Given the description of an element on the screen output the (x, y) to click on. 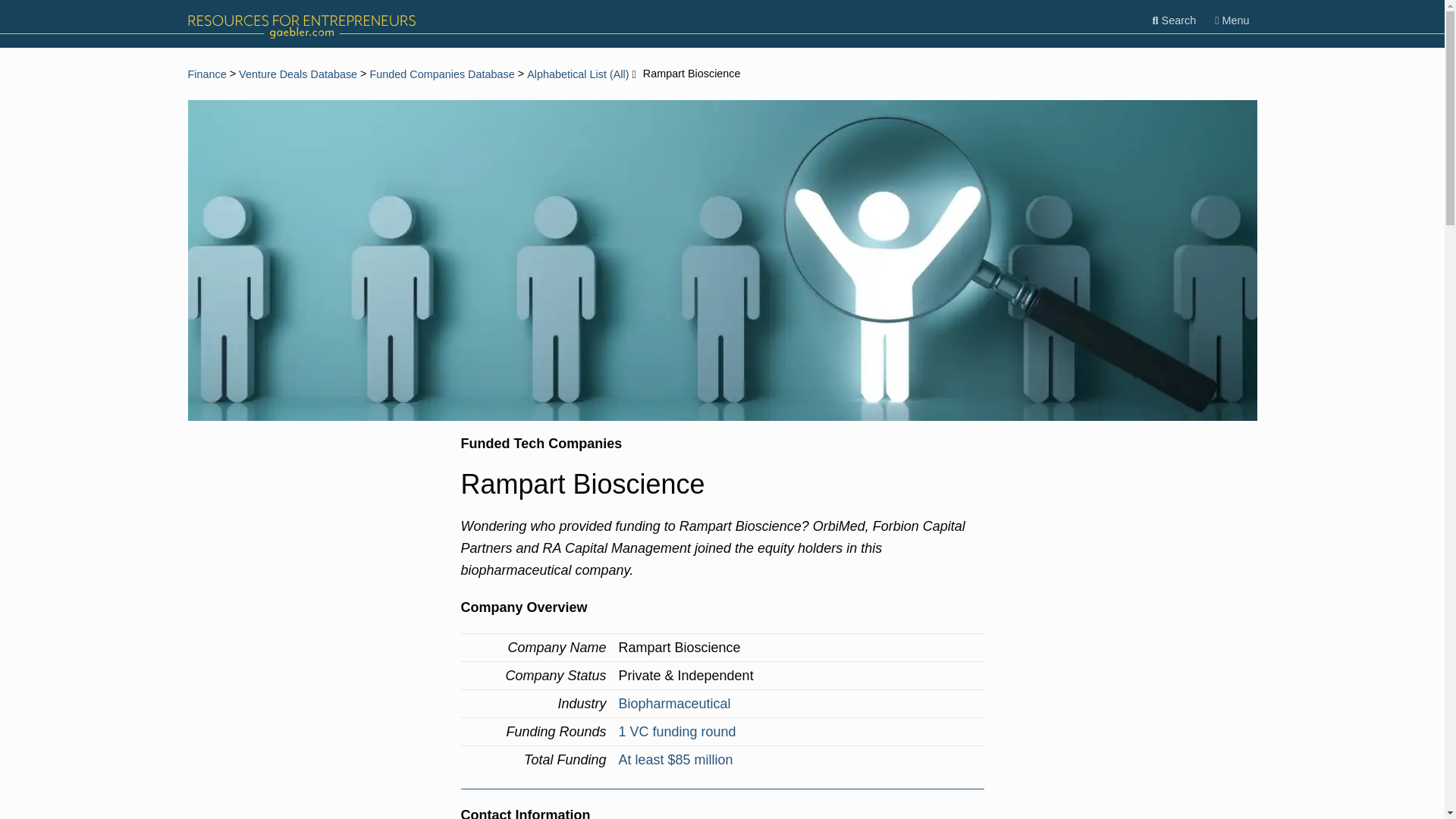
Search (1174, 20)
Menu (1231, 20)
